Given the description of an element on the screen output the (x, y) to click on. 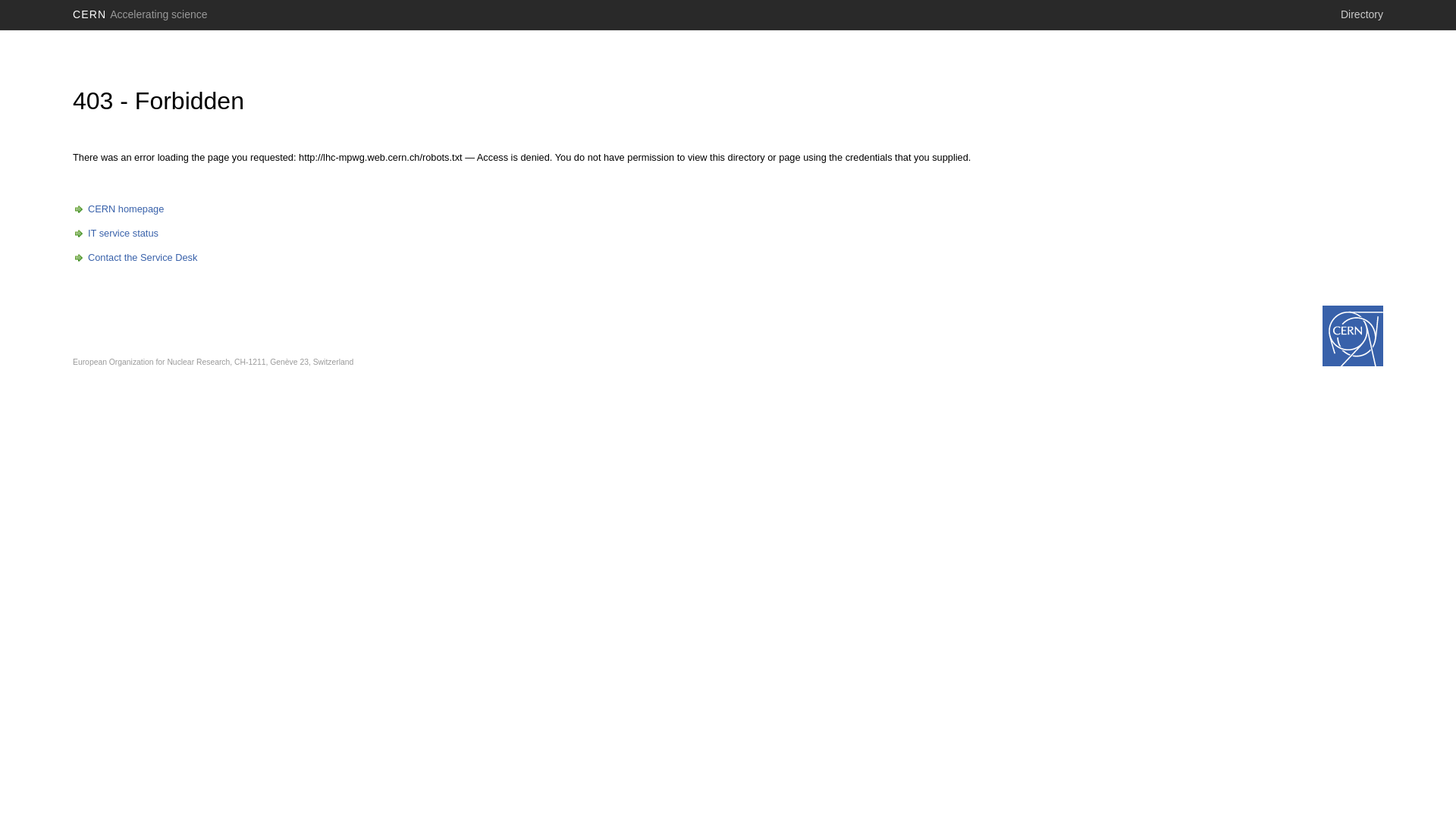
CERN homepage Element type: text (117, 208)
Directory Element type: text (1361, 14)
Contact the Service Desk Element type: text (134, 257)
www.cern.ch Element type: hover (1352, 335)
IT service status Element type: text (115, 232)
CERN Accelerating science Element type: text (139, 14)
